Given the description of an element on the screen output the (x, y) to click on. 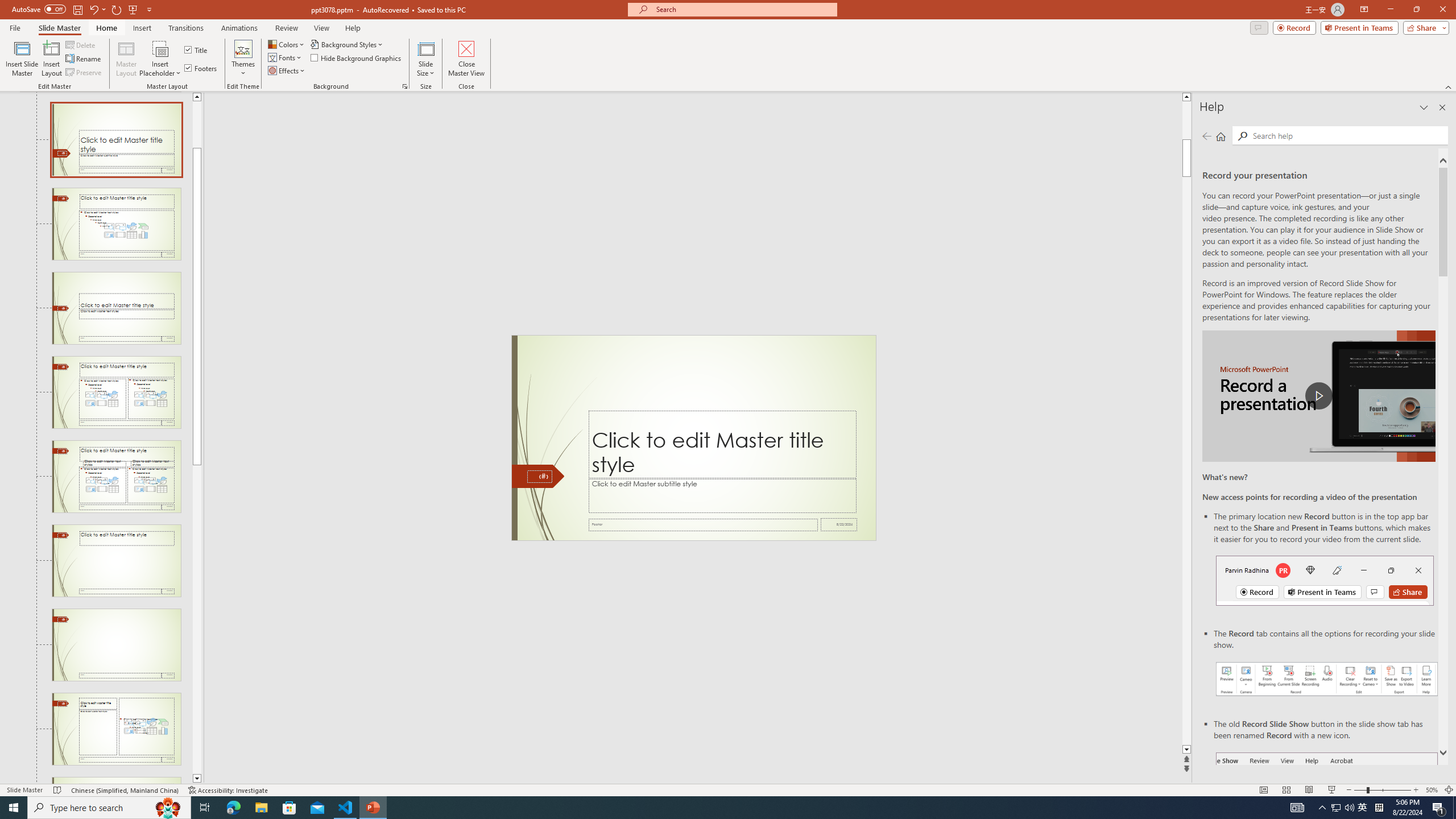
Content (160, 48)
Page up (197, 124)
